Given the description of an element on the screen output the (x, y) to click on. 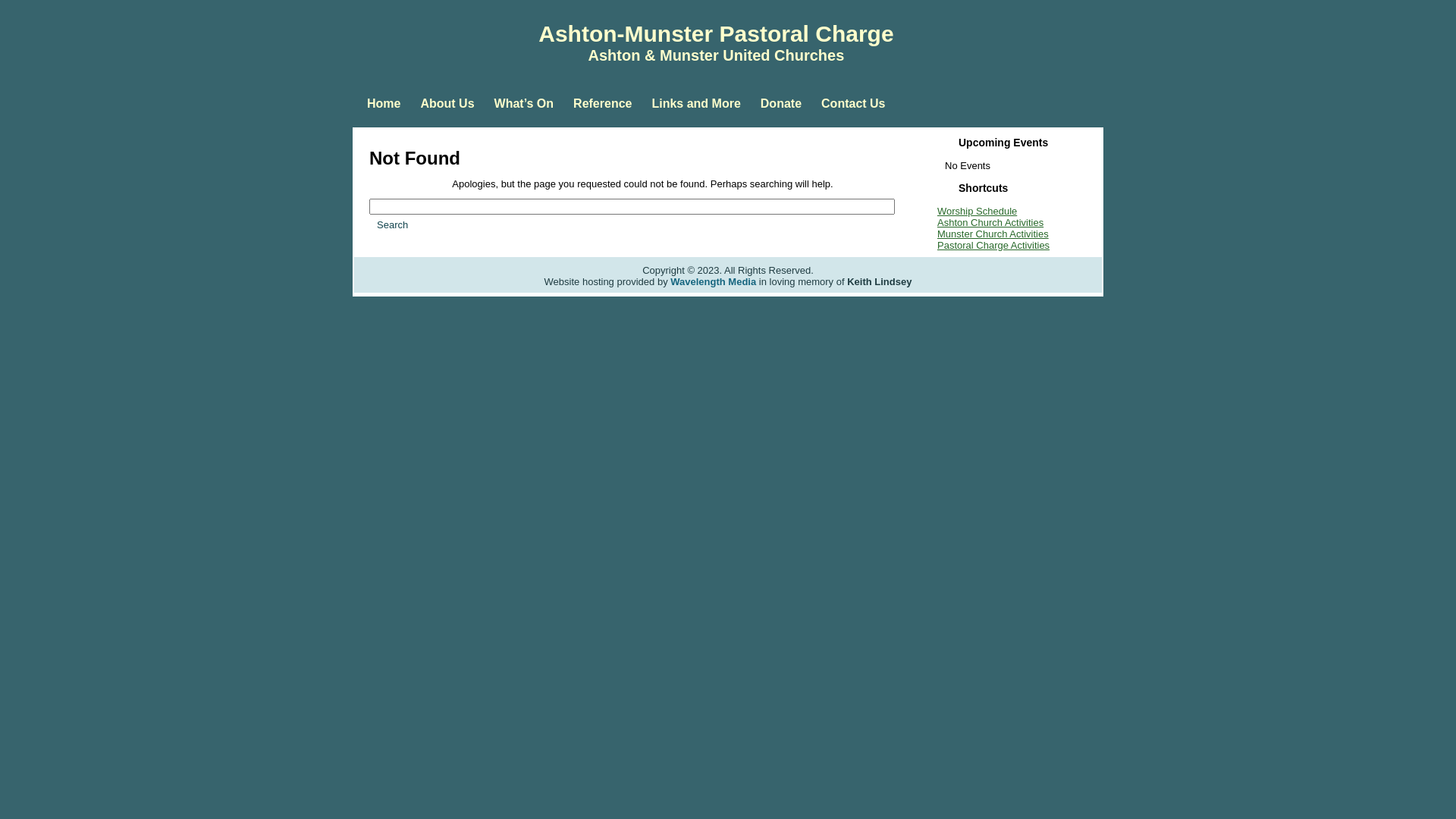
Ashton Church Activities Element type: text (990, 222)
Ashton-Munster Pastoral Charge Element type: text (715, 33)
Pastoral Charge Activities Element type: text (993, 245)
Munster Church Activities Element type: text (992, 233)
Reference Element type: text (602, 103)
Home Element type: text (383, 103)
Search Element type: text (392, 224)
Links and More Element type: text (695, 103)
Contact Us Element type: text (853, 103)
Worship Schedule Element type: text (976, 210)
About Us Element type: text (447, 103)
Wavelength Media Element type: text (713, 281)
Donate Element type: text (780, 103)
